Given the description of an element on the screen output the (x, y) to click on. 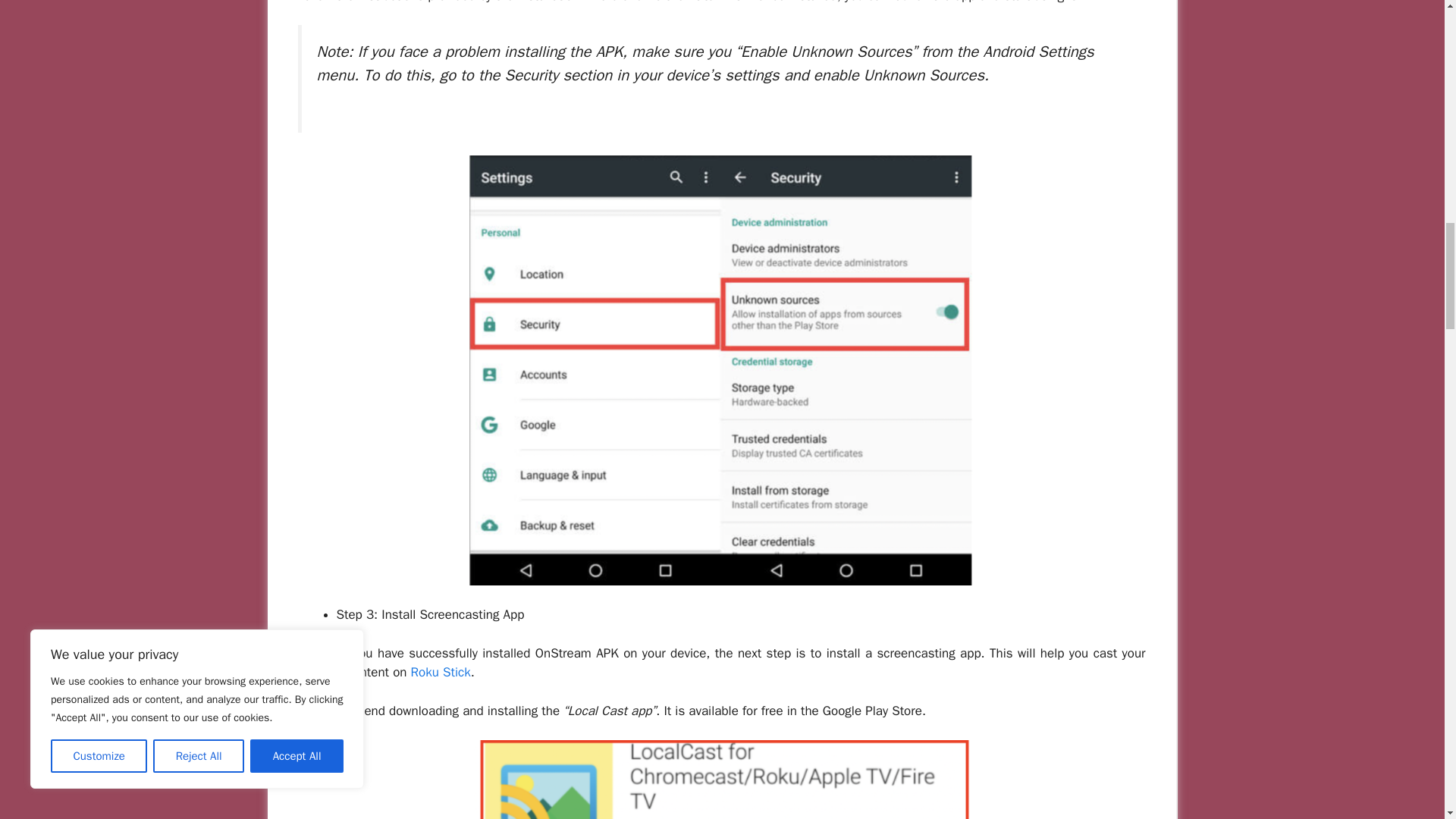
Roku Stick (440, 672)
